Given the description of an element on the screen output the (x, y) to click on. 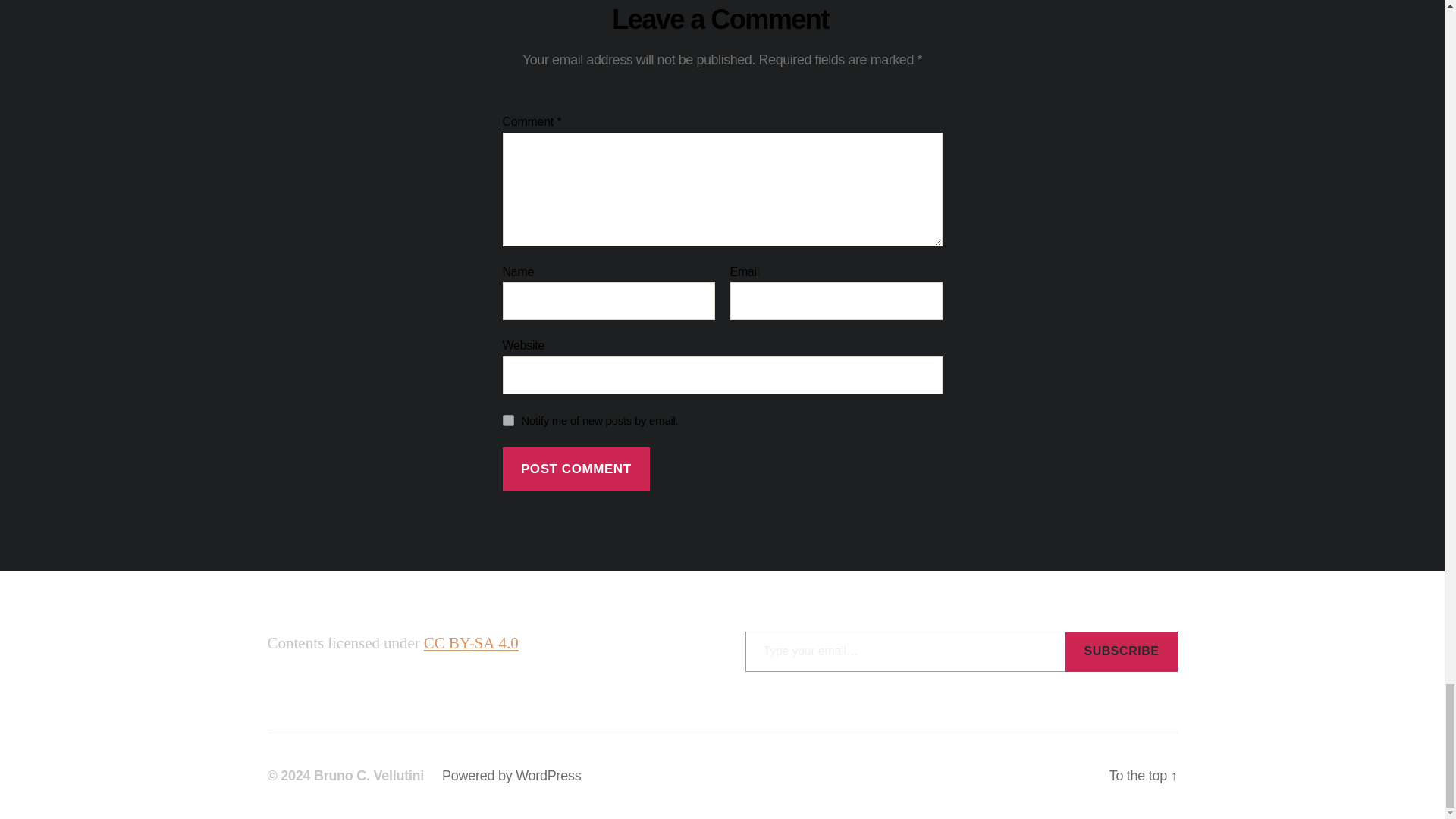
Post Comment (575, 469)
Please fill in this field. (904, 651)
subscribe (507, 419)
